Given the description of an element on the screen output the (x, y) to click on. 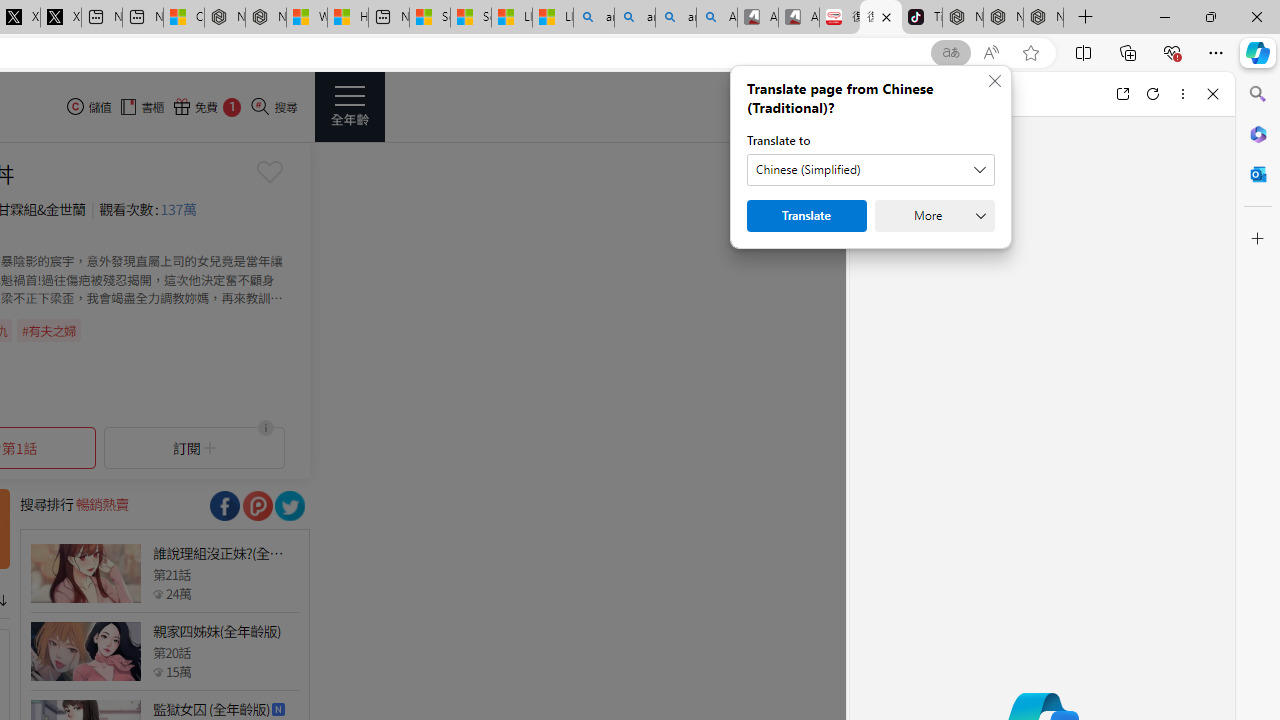
Nordace - Siena Pro 15 Essential Set (1043, 17)
Nordace Siena Pro 15 Backpack (1003, 17)
